Given the description of an element on the screen output the (x, y) to click on. 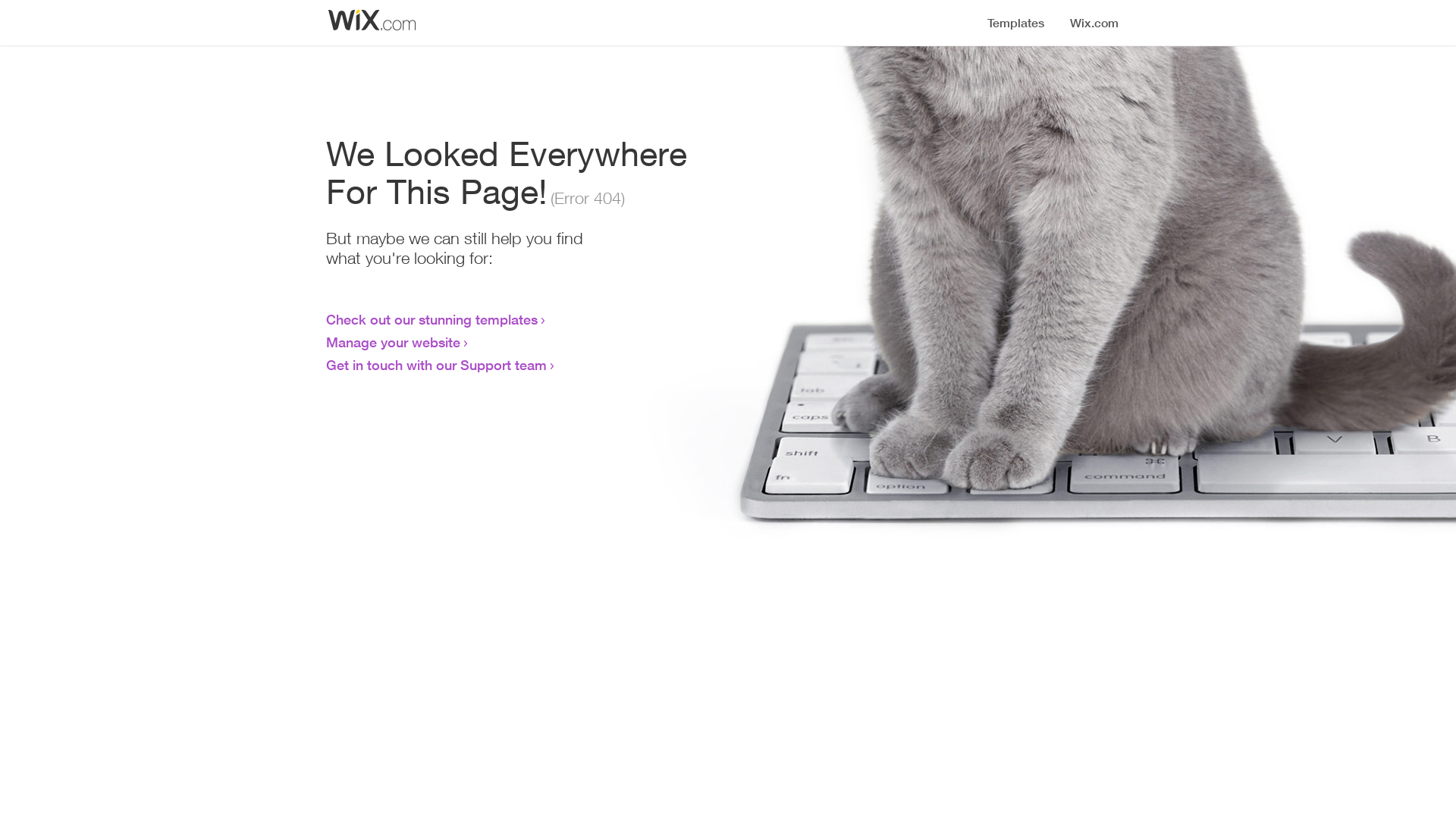
Check out our stunning templates Element type: text (431, 318)
Get in touch with our Support team Element type: text (436, 364)
Manage your website Element type: text (393, 341)
